Given the description of an element on the screen output the (x, y) to click on. 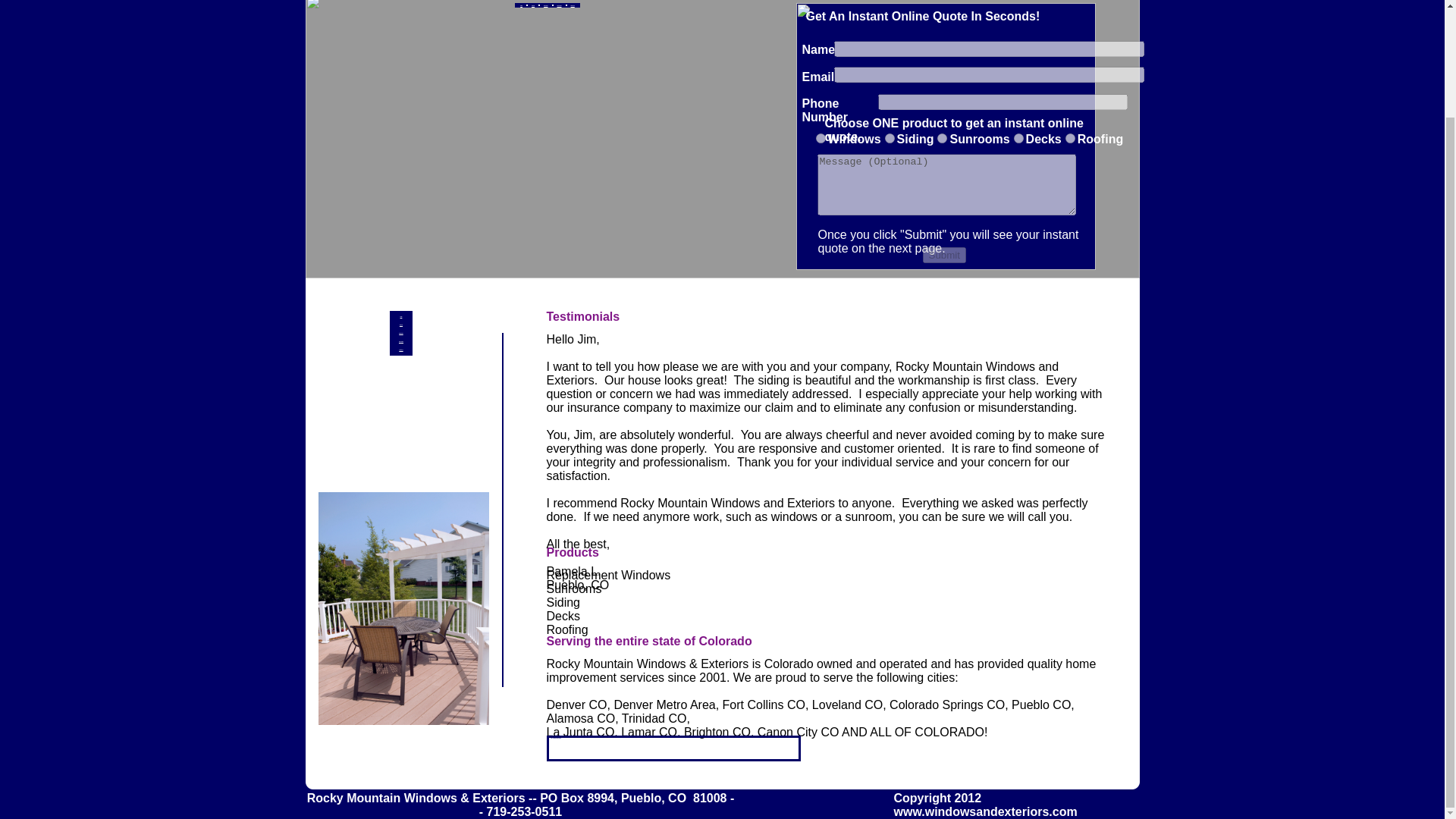
Home (400, 316)
Submit (943, 254)
Contact Us (400, 349)
Windows (820, 138)
Services (400, 325)
Siding (890, 138)
Decks (1018, 138)
References (400, 333)
Get An Instant Online Quote (555, 737)
